Given the description of an element on the screen output the (x, y) to click on. 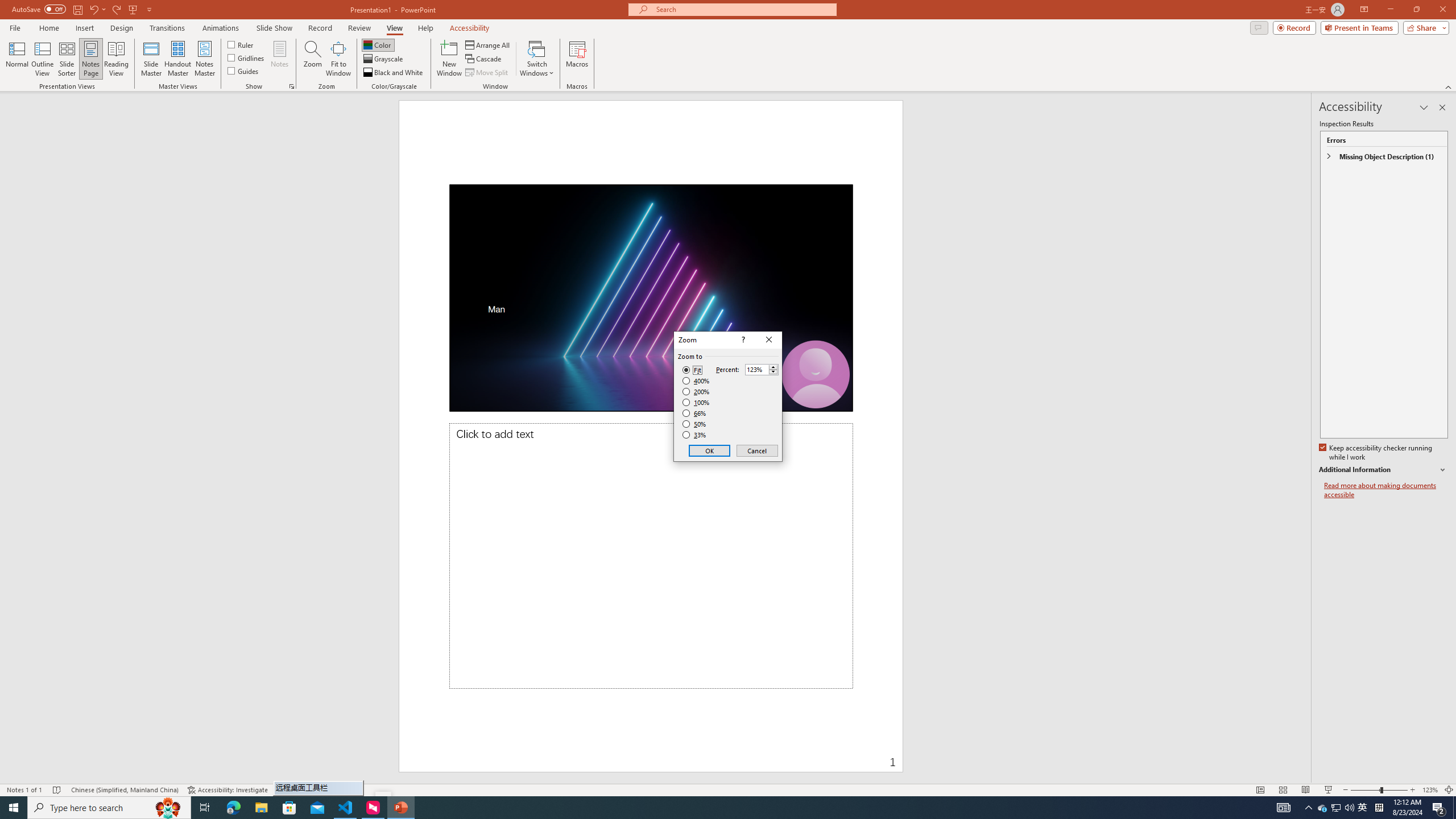
New Window (449, 58)
200% (696, 391)
Zoom... (312, 58)
Notes (279, 58)
Cancel (756, 450)
